Given the description of an element on the screen output the (x, y) to click on. 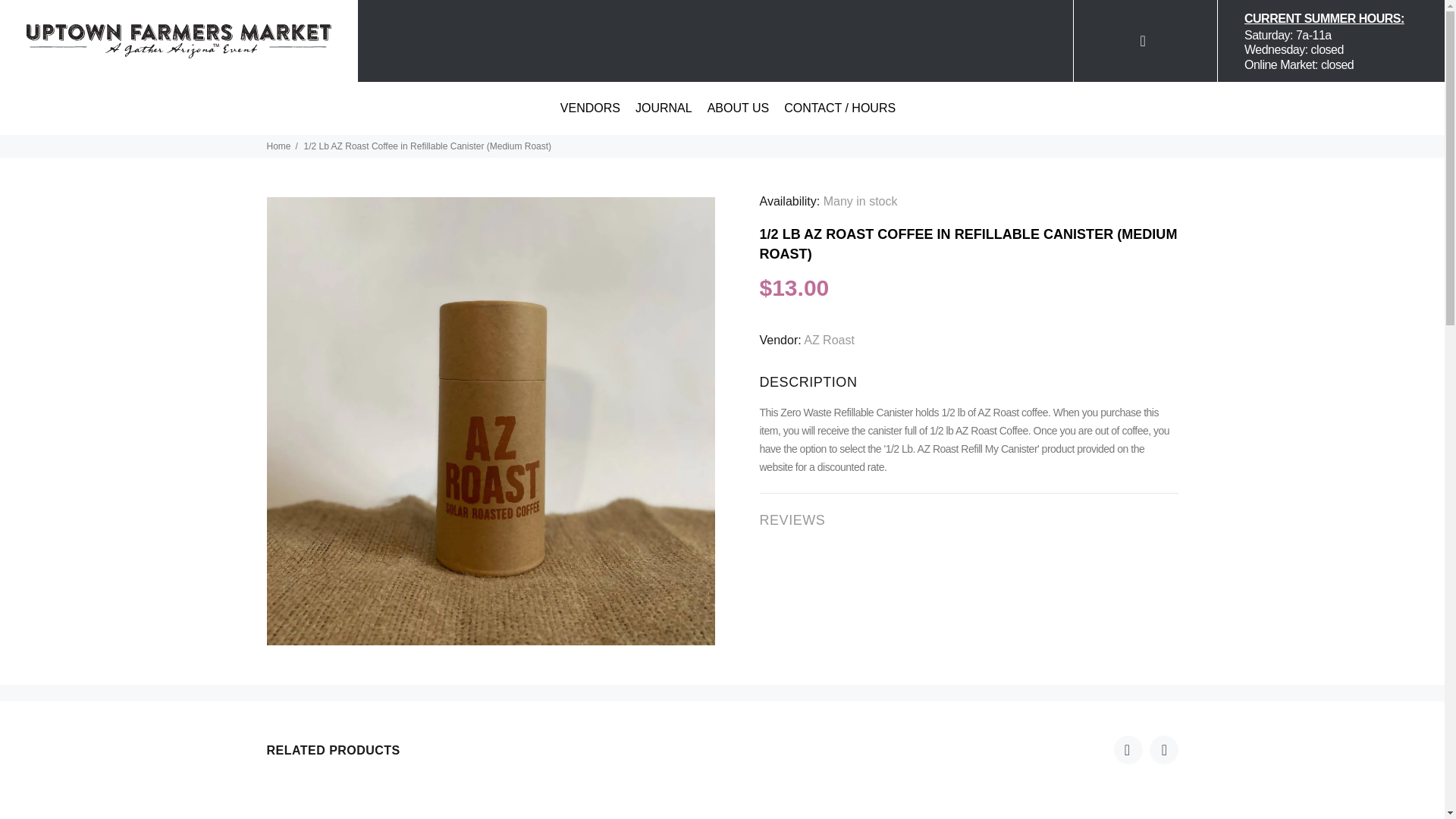
JOURNAL (663, 25)
VENDORS (590, 25)
ABOUT US (738, 25)
